Given the description of an element on the screen output the (x, y) to click on. 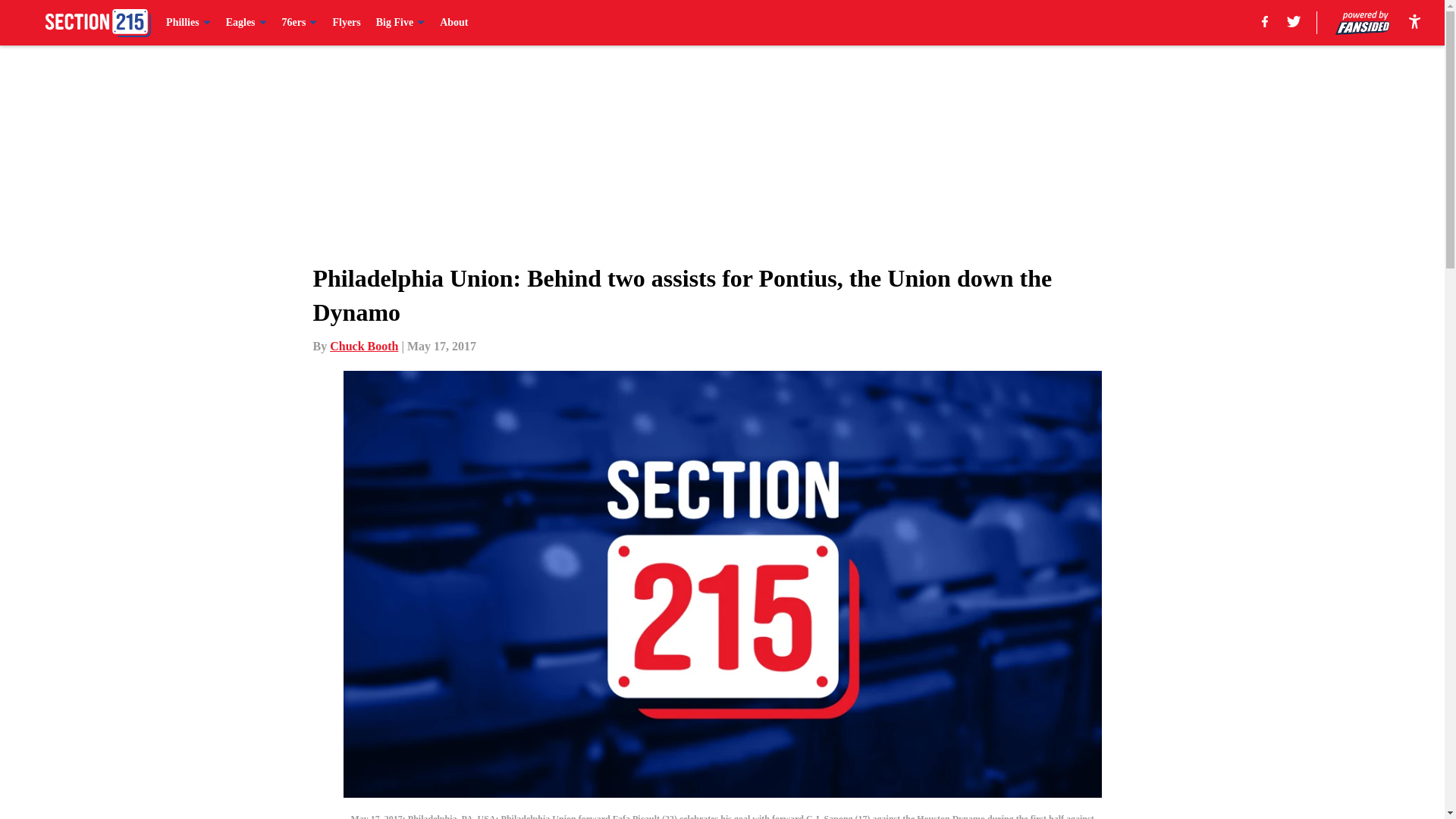
Chuck Booth (363, 345)
About (453, 22)
Flyers (345, 22)
